Given the description of an element on the screen output the (x, y) to click on. 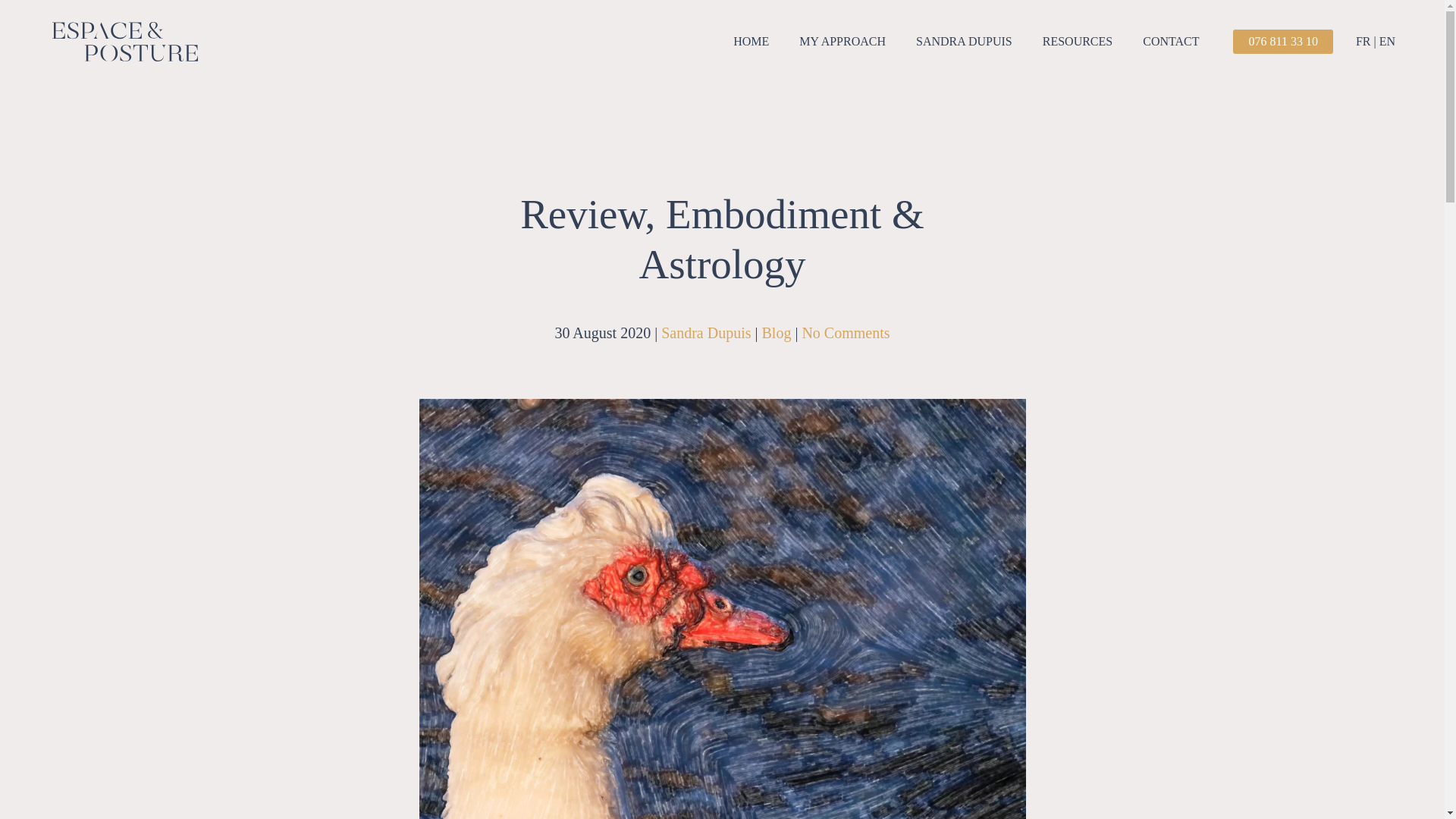
Blog (775, 332)
HOME (750, 41)
SANDRA DUPUIS (964, 41)
MY APPROACH (842, 41)
Sandra Dupuis (706, 332)
076 811 33 10 (1282, 41)
CONTACT (1170, 41)
RESOURCES (1076, 41)
